Given the description of an element on the screen output the (x, y) to click on. 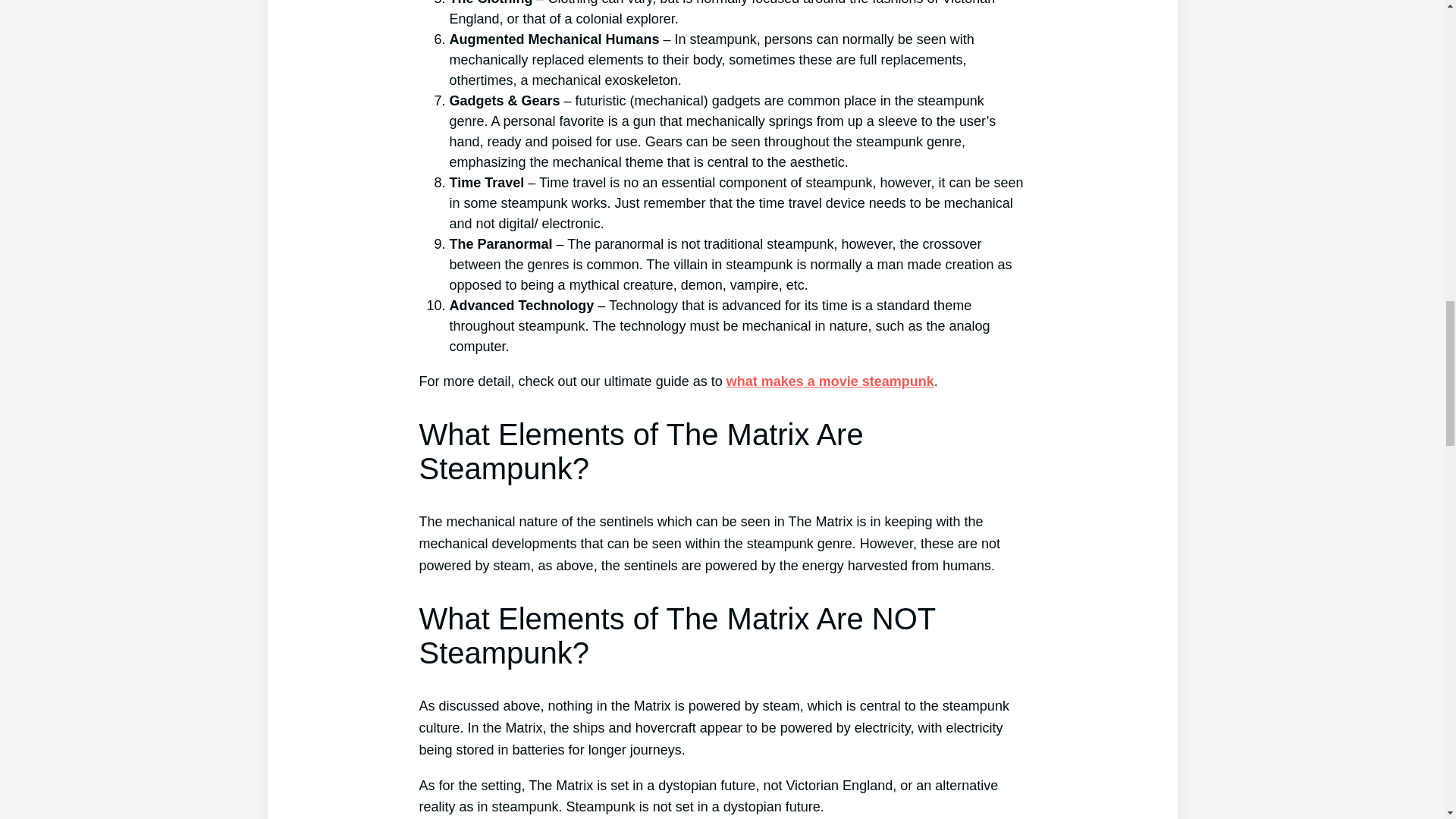
what makes a movie steampunk (830, 381)
